Given the description of an element on the screen output the (x, y) to click on. 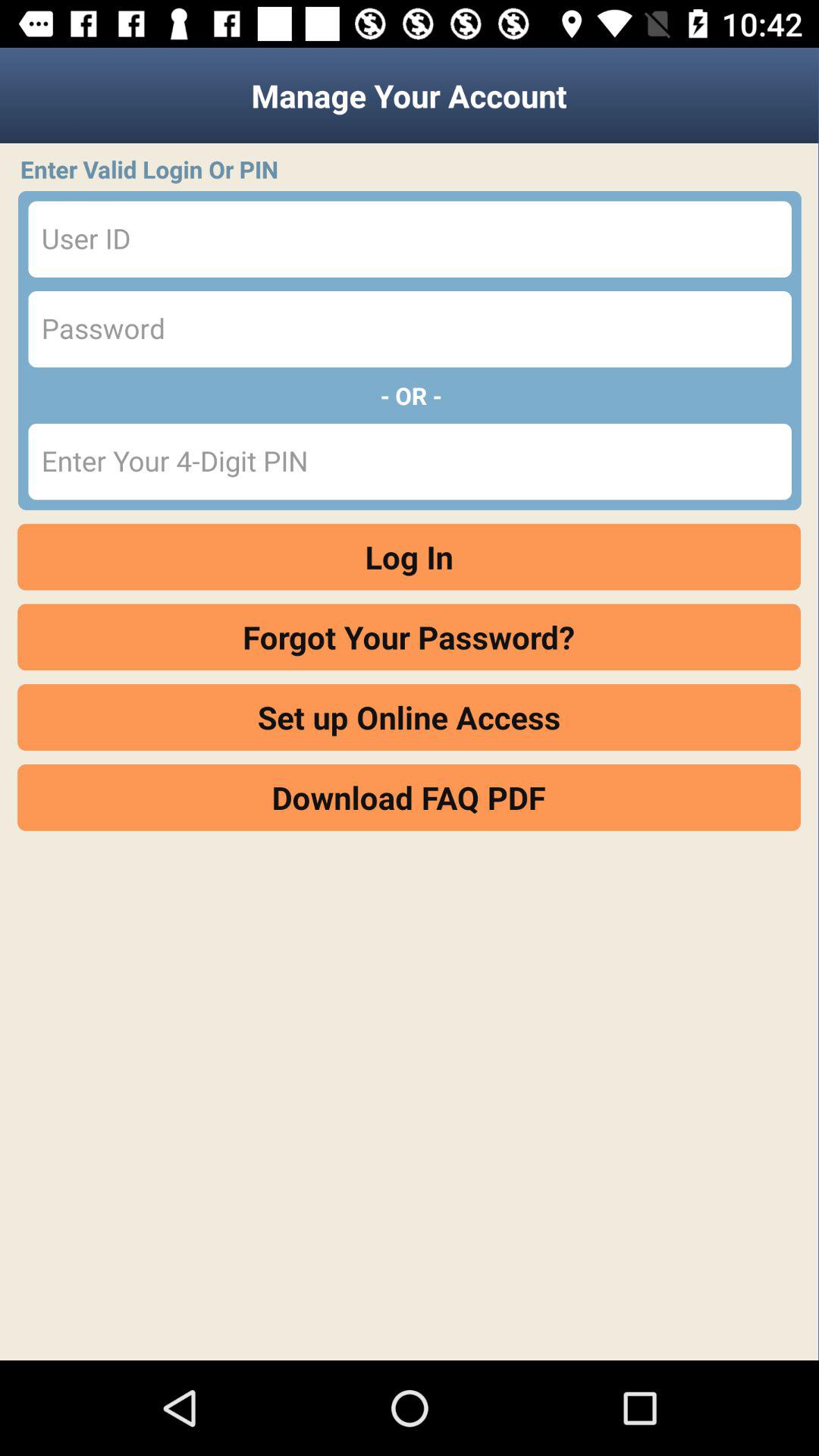
tap the log in icon (408, 557)
